Given the description of an element on the screen output the (x, y) to click on. 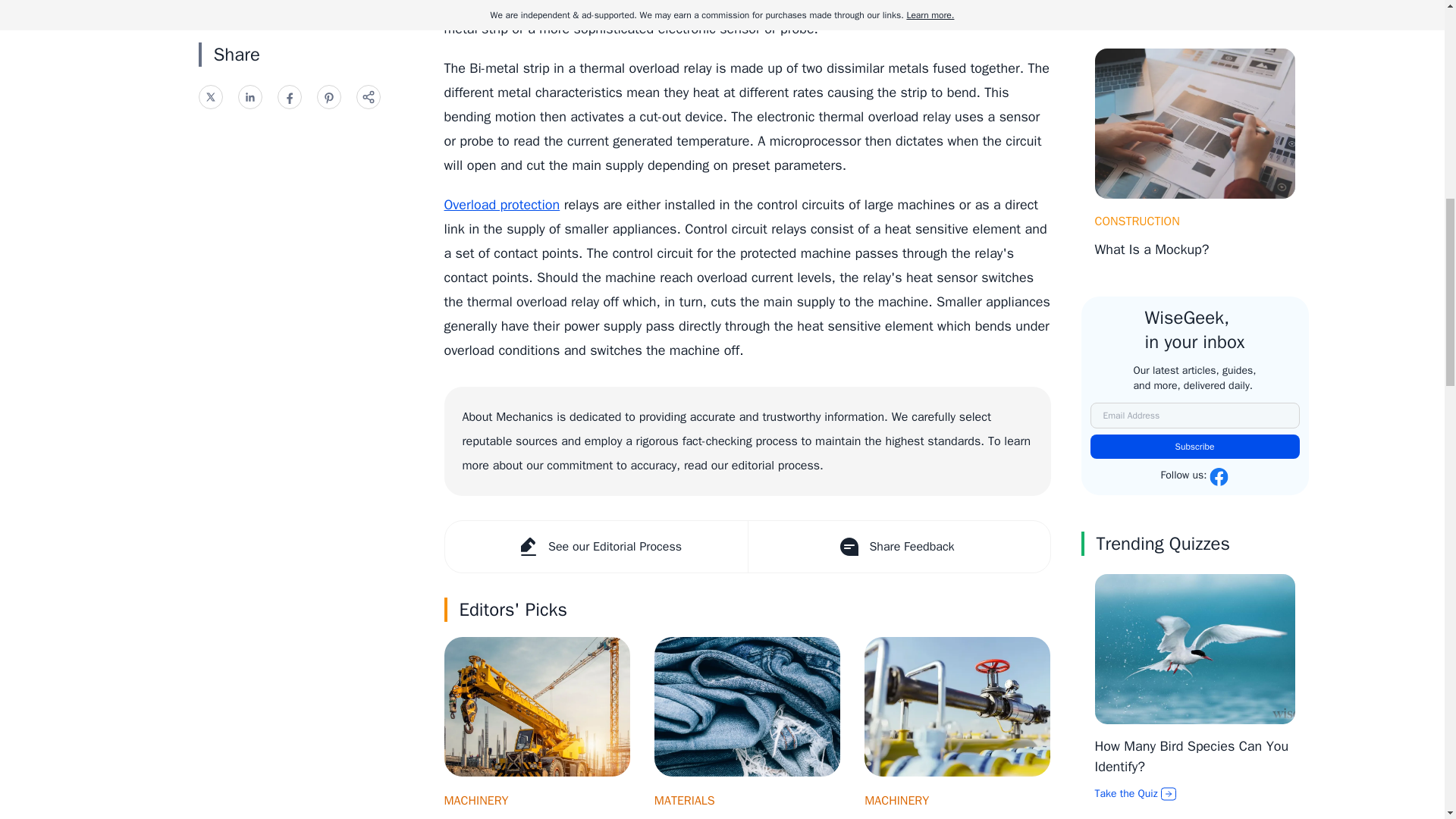
Overload protection (502, 204)
Share Feedback (898, 546)
See our Editorial Process (595, 546)
